Given the description of an element on the screen output the (x, y) to click on. 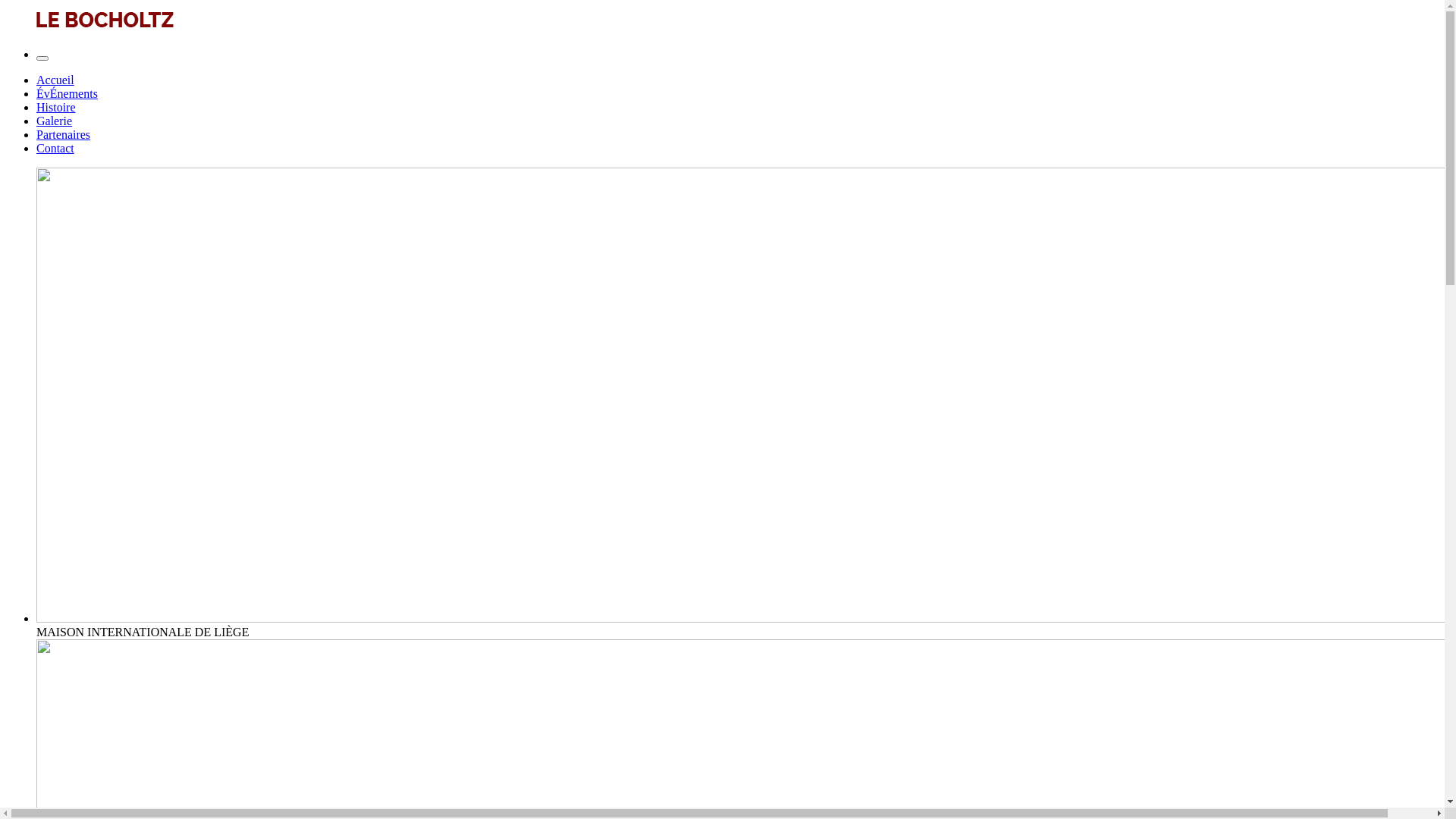
Contact Element type: text (55, 147)
Partenaires Element type: text (63, 134)
Accueil Element type: text (55, 79)
Histoire Element type: text (55, 106)
Galerie Element type: text (54, 120)
